Given the description of an element on the screen output the (x, y) to click on. 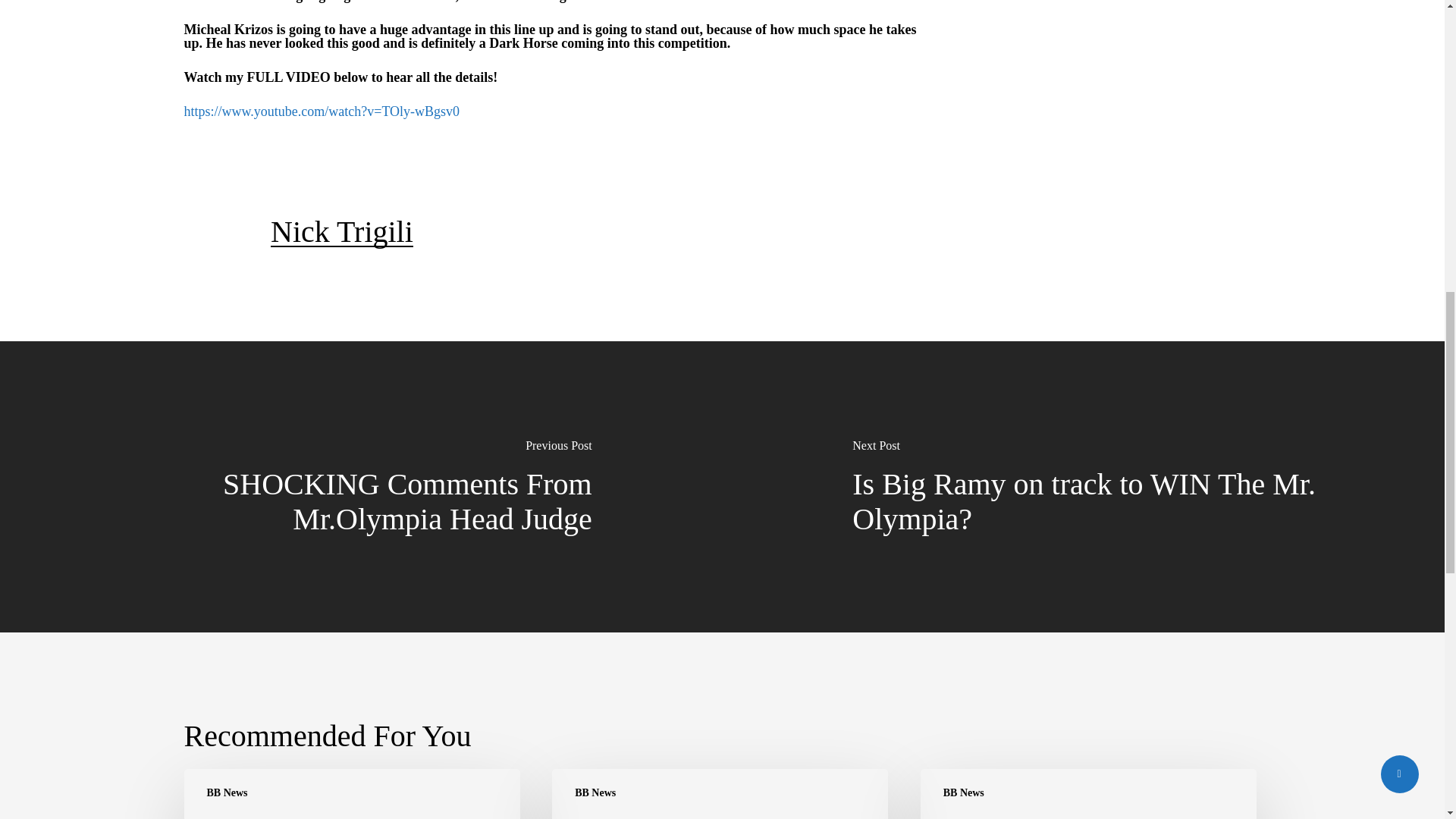
BB News (226, 792)
BB News (963, 792)
Nick Trigili (341, 231)
BB News (595, 792)
